Given the description of an element on the screen output the (x, y) to click on. 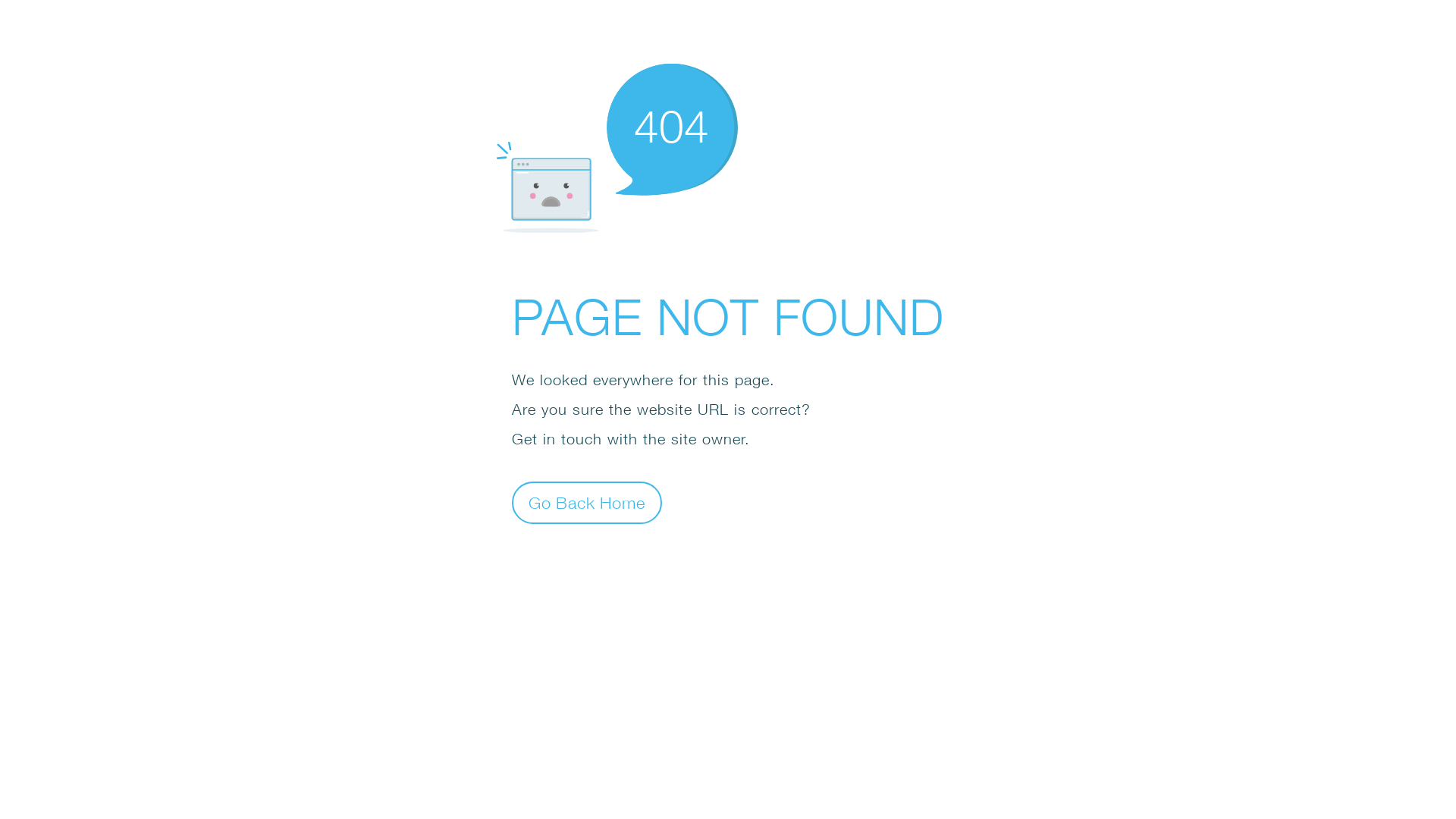
Go Back Home Element type: text (586, 502)
